Given the description of an element on the screen output the (x, y) to click on. 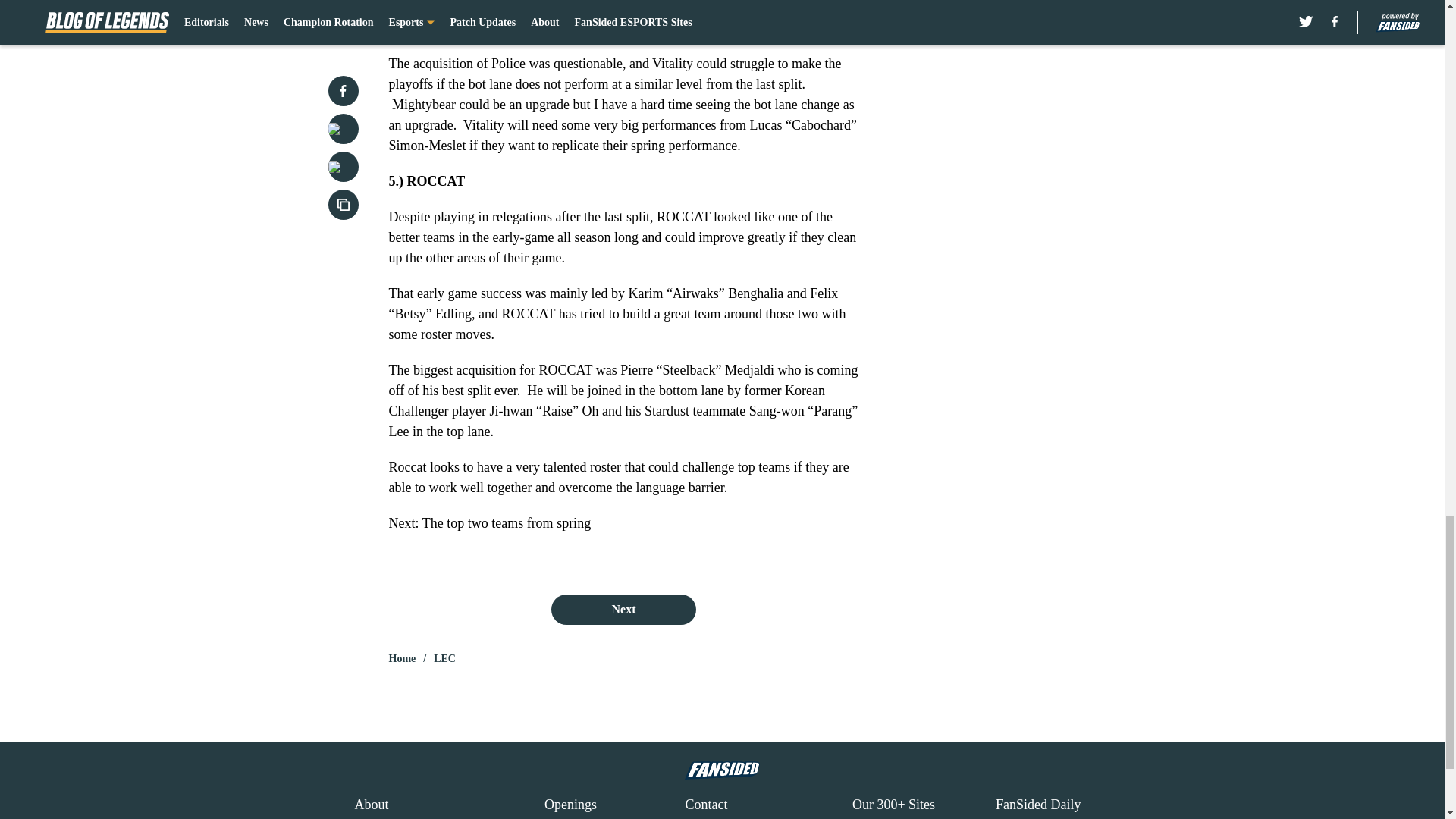
Home (401, 657)
Contact (705, 804)
LEC (444, 657)
Openings (570, 804)
Next (622, 609)
About (370, 804)
FanSided Daily (1038, 804)
